Given the description of an element on the screen output the (x, y) to click on. 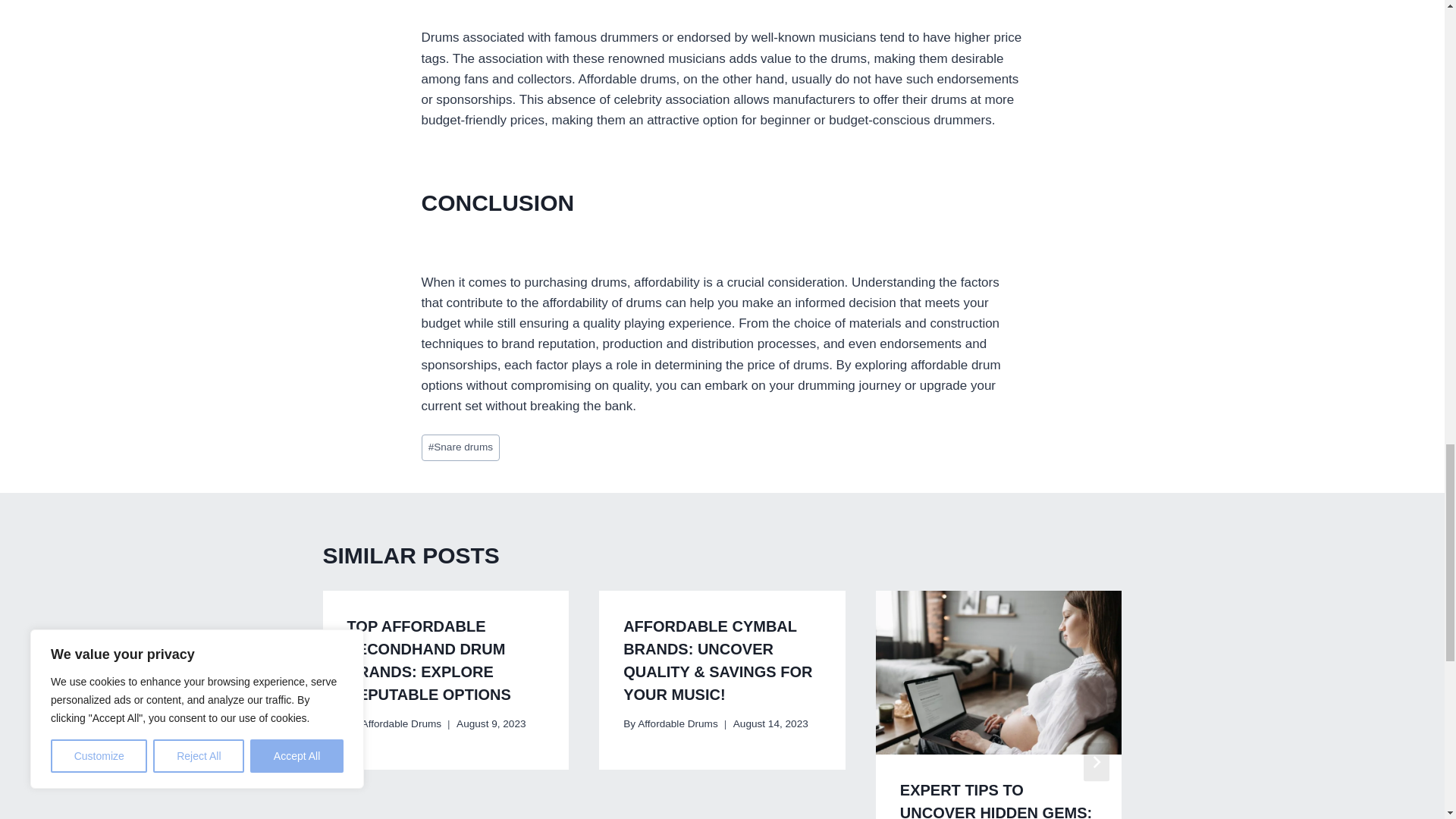
Snare drums (461, 447)
